Given the description of an element on the screen output the (x, y) to click on. 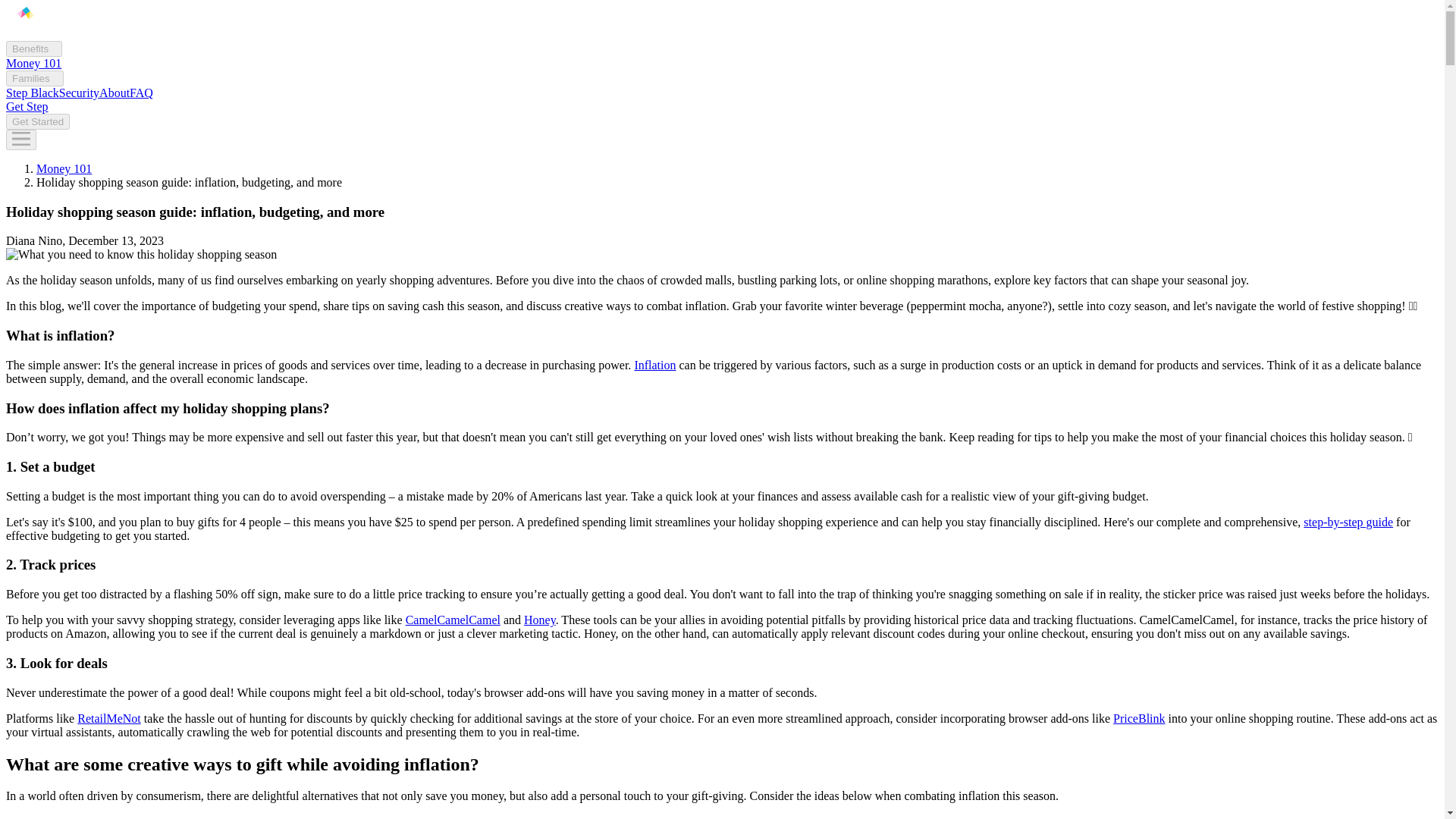
RetailMeNot (109, 717)
Money 101 (63, 168)
Step logoStep logo with colored accents and white text (25, 33)
step-by-step guide (1348, 521)
Benefits (33, 48)
PriceBlink (1138, 717)
Step logoStep logo with colored accents and white text (25, 21)
Money 101 (33, 62)
Inflation (654, 364)
Get Started (37, 121)
About (114, 92)
Security (79, 92)
Families (34, 78)
FAQ (140, 92)
Step Black (32, 92)
